Given the description of an element on the screen output the (x, y) to click on. 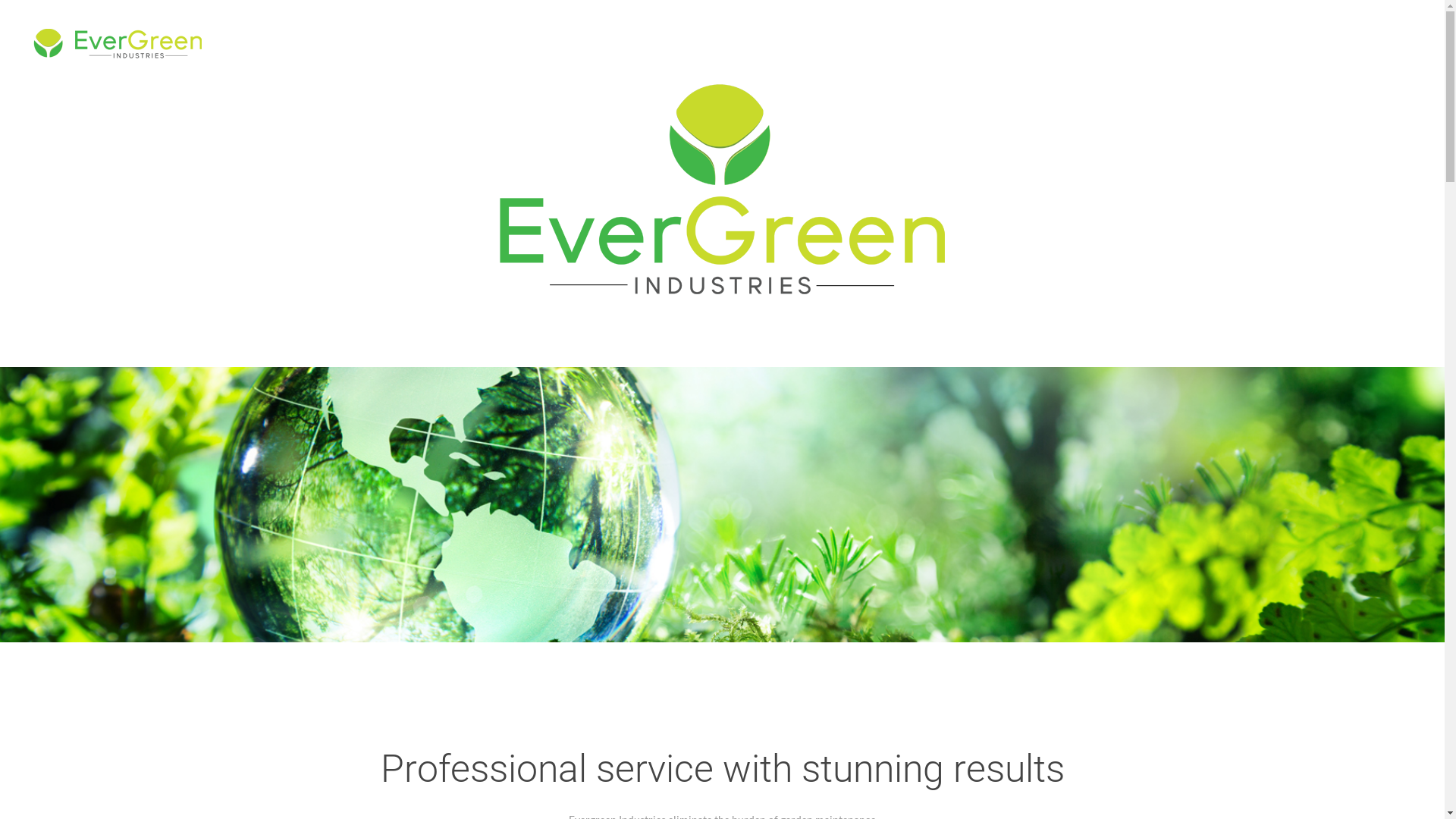
Contact Element type: text (1399, 42)
